Given the description of an element on the screen output the (x, y) to click on. 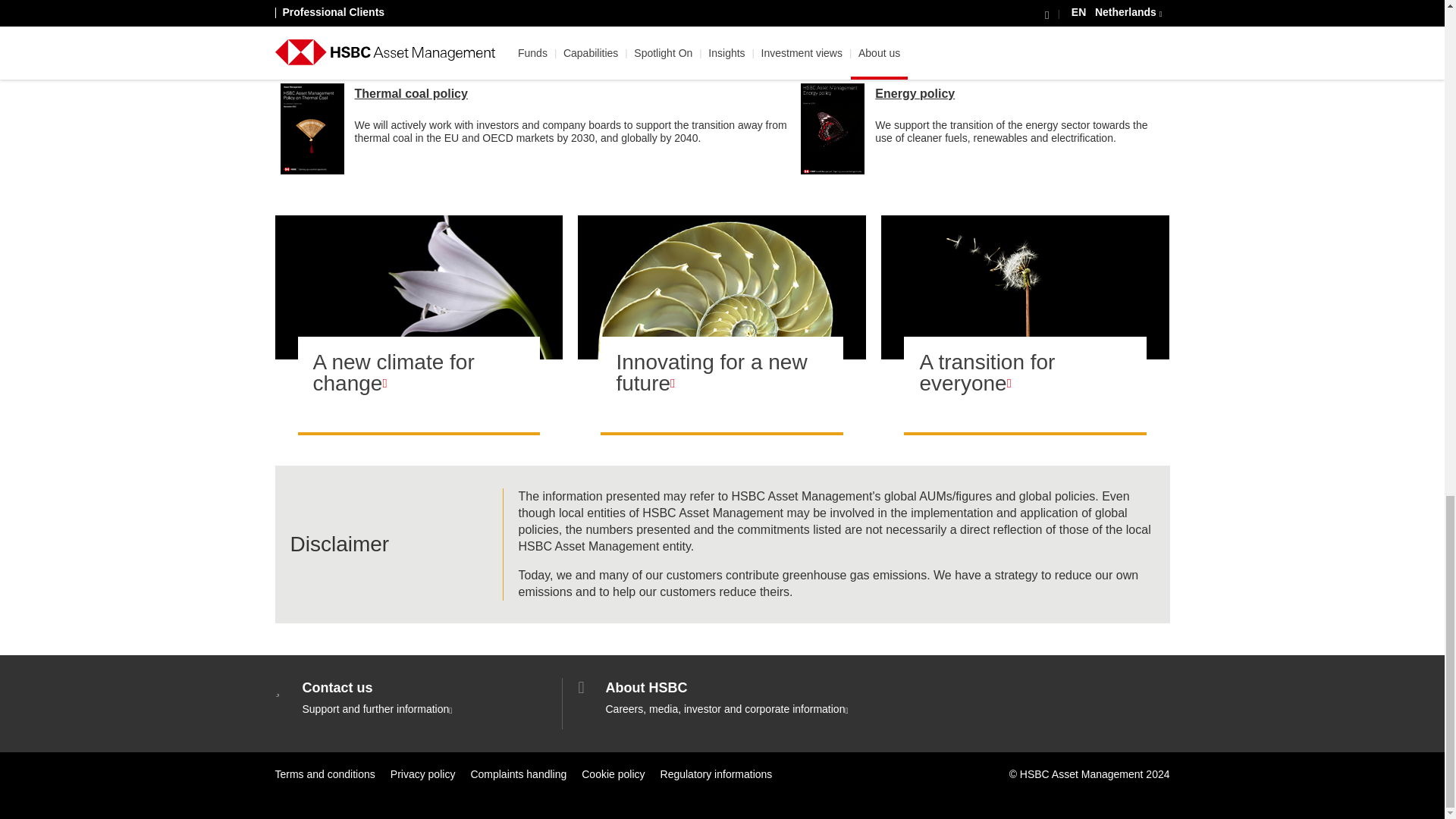
Thermal coal policy (411, 92)
Terms and conditions  (324, 773)
Cookie policy  (612, 773)
Contact us information  (418, 697)
About HSBC Group  (722, 697)
